Given the description of an element on the screen output the (x, y) to click on. 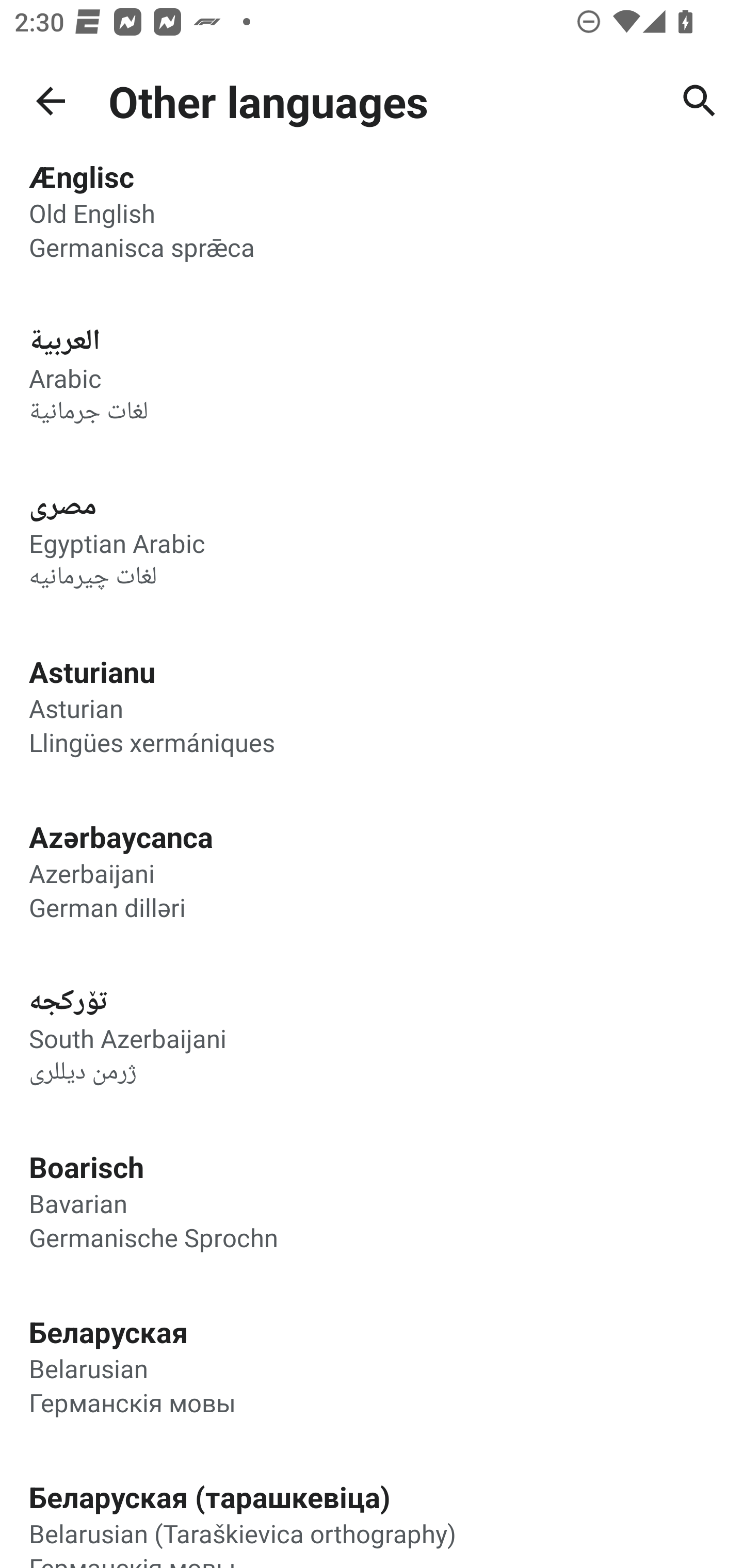
Navigate up (50, 101)
Search for a language (699, 101)
Ænglisc Old English Germanisca sprǣca (371, 225)
العربية Arabic لغات جرمانية (371, 375)
مصرى Egyptian Arabic لغات چيرمانيه (371, 539)
Asturianu Asturian Llingües xermániques (371, 705)
Azərbaycanca Azerbaijani German dilləri (371, 870)
تۆرکجه South Azerbaijani ژرمن دیللری (371, 1035)
Boarisch Bavarian Germanische Sprochn (371, 1199)
Беларуская Belarusian Германскія мовы (371, 1365)
